Given the description of an element on the screen output the (x, y) to click on. 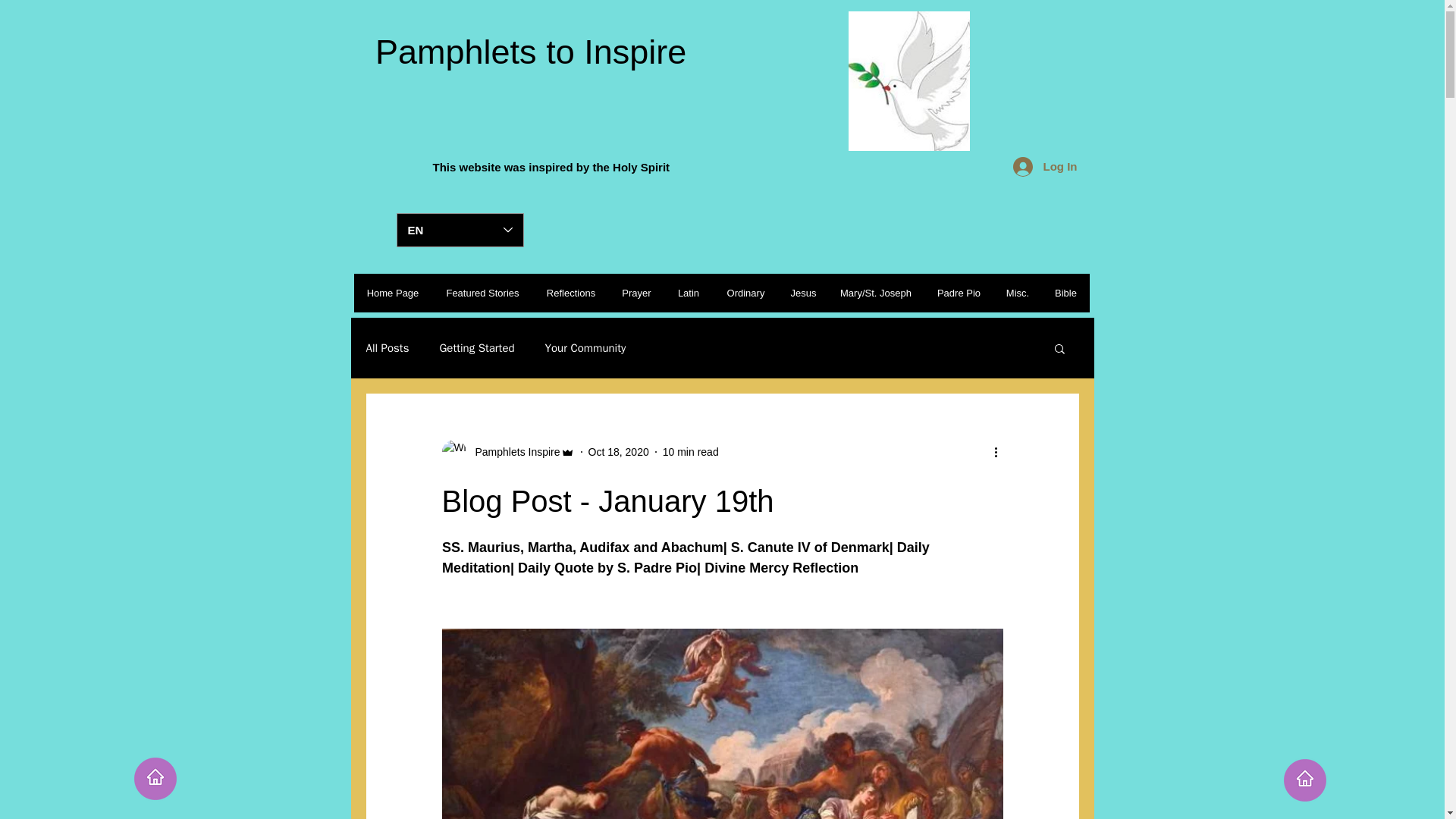
Log In (1045, 165)
Pamphlets to Inspire (525, 51)
Prayer (635, 292)
10 min read (690, 451)
Home Page (391, 292)
Oct 18, 2020 (618, 451)
Reflections (570, 292)
Featured Stories (482, 292)
Pamphlets Inspire (512, 452)
